Given the description of an element on the screen output the (x, y) to click on. 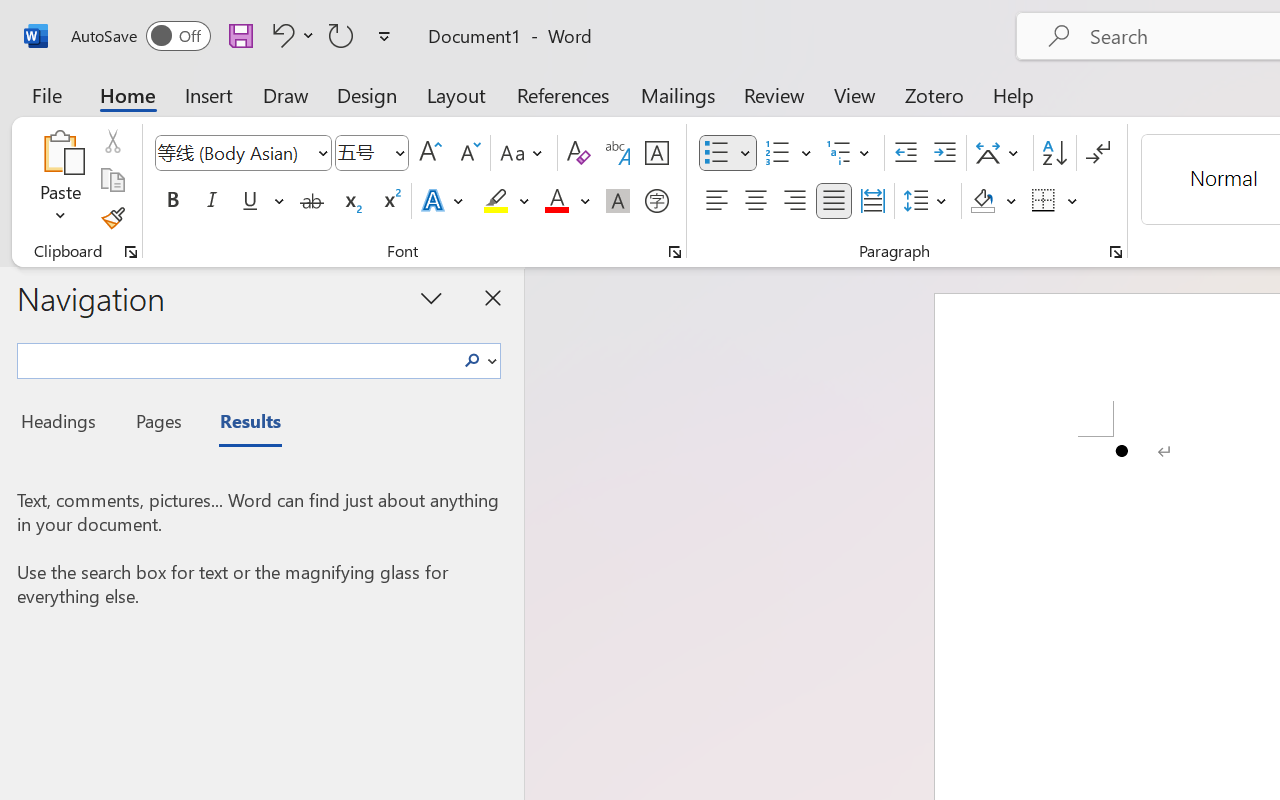
Undo Bullet Default (290, 35)
Search document (236, 358)
